Given the description of an element on the screen output the (x, y) to click on. 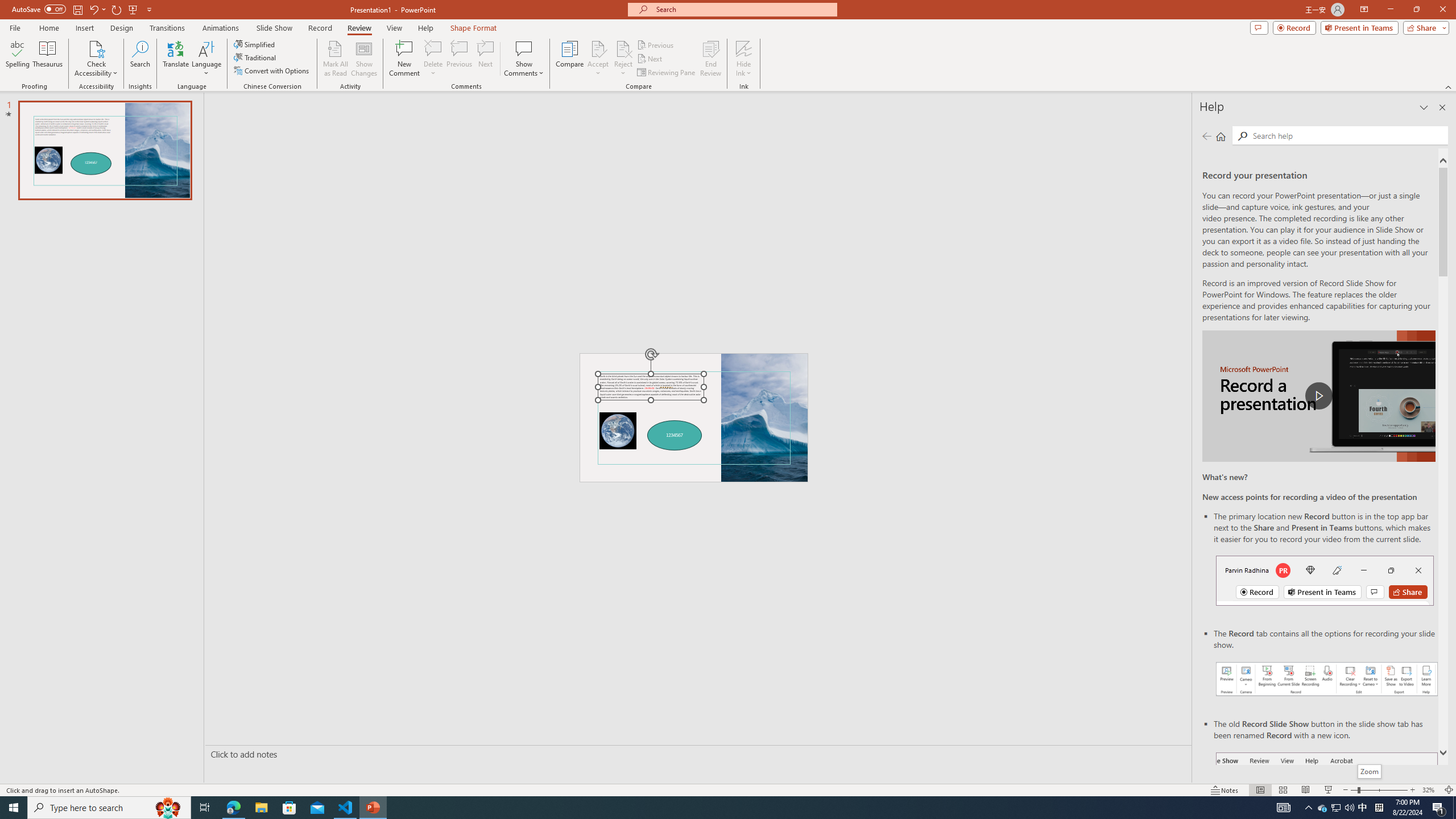
Compare (569, 58)
Mark All as Read (335, 58)
Accept (598, 58)
Record button in top bar (1324, 580)
